Given the description of an element on the screen output the (x, y) to click on. 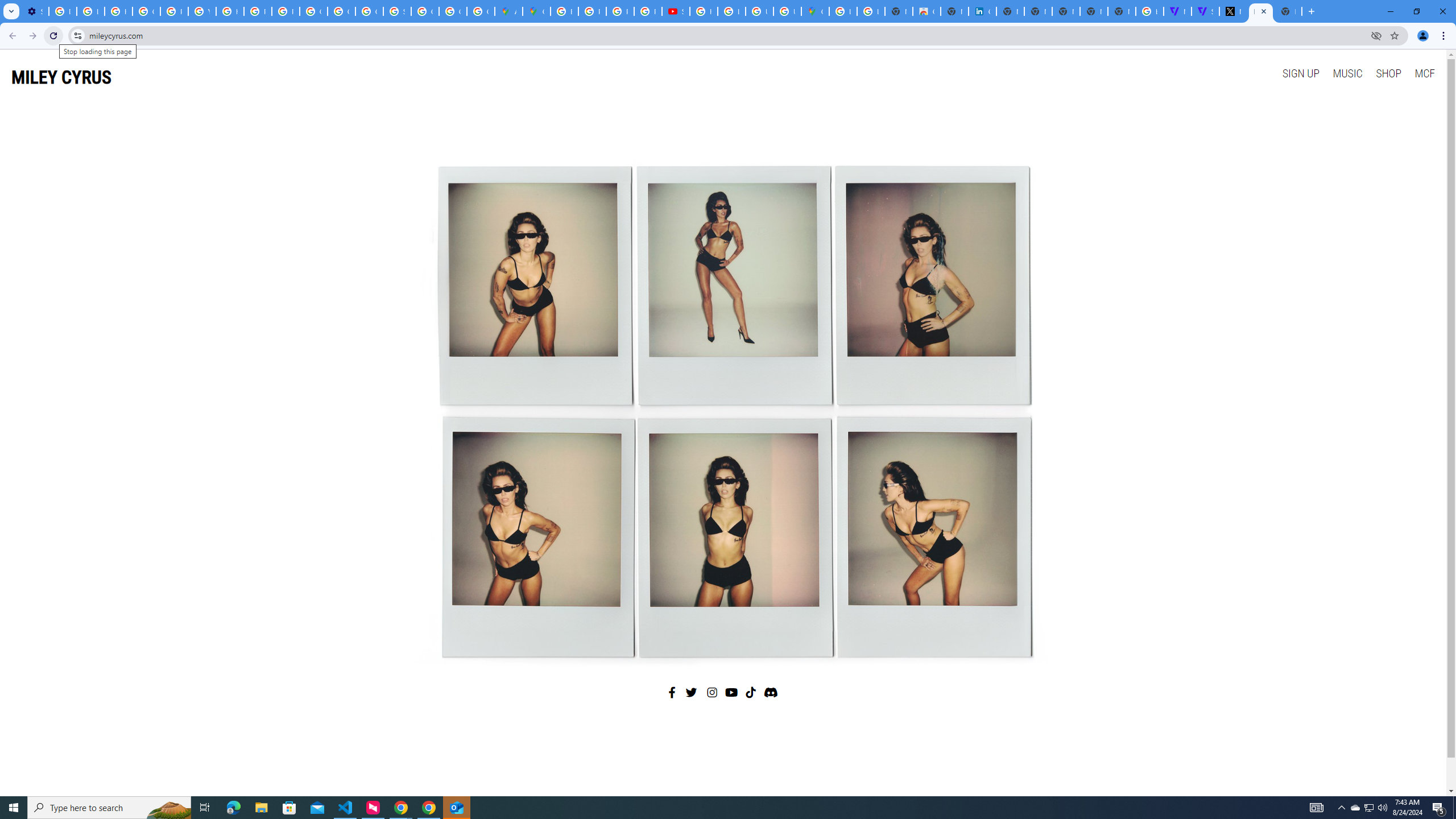
Subscriptions - YouTube (675, 11)
Learn how to find your photos - Google Photos Help (90, 11)
SIGN UP (1300, 73)
MILEY CYRUS (61, 77)
SHOP (1387, 73)
Miley Cyrus (@MileyCyrus) / X (1233, 11)
Chrome Web Store (926, 11)
